Given the description of an element on the screen output the (x, y) to click on. 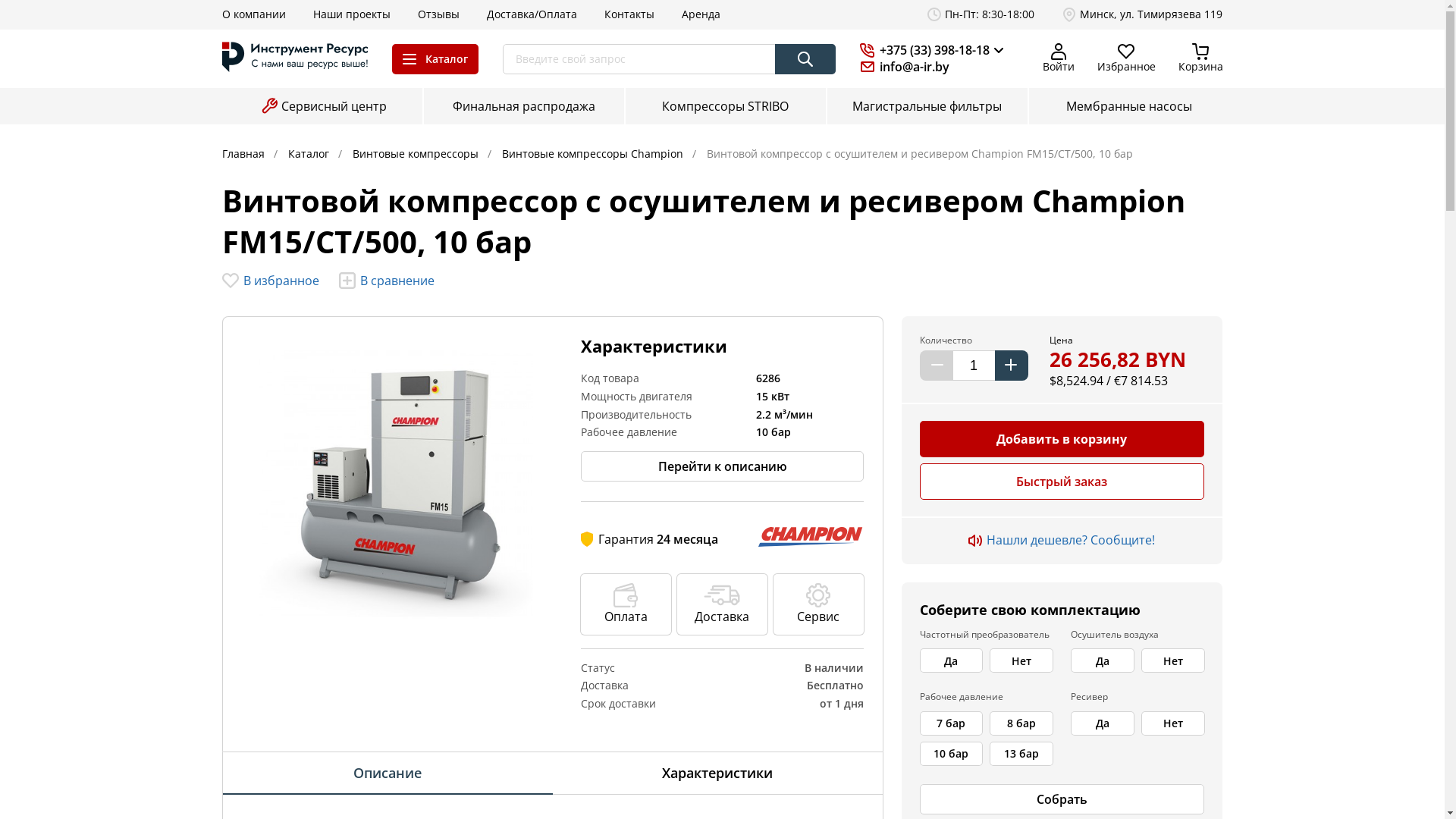
+375 (33) 398-18-18 Element type: text (934, 49)
info@a-ir.by Element type: text (924, 67)
